Given the description of an element on the screen output the (x, y) to click on. 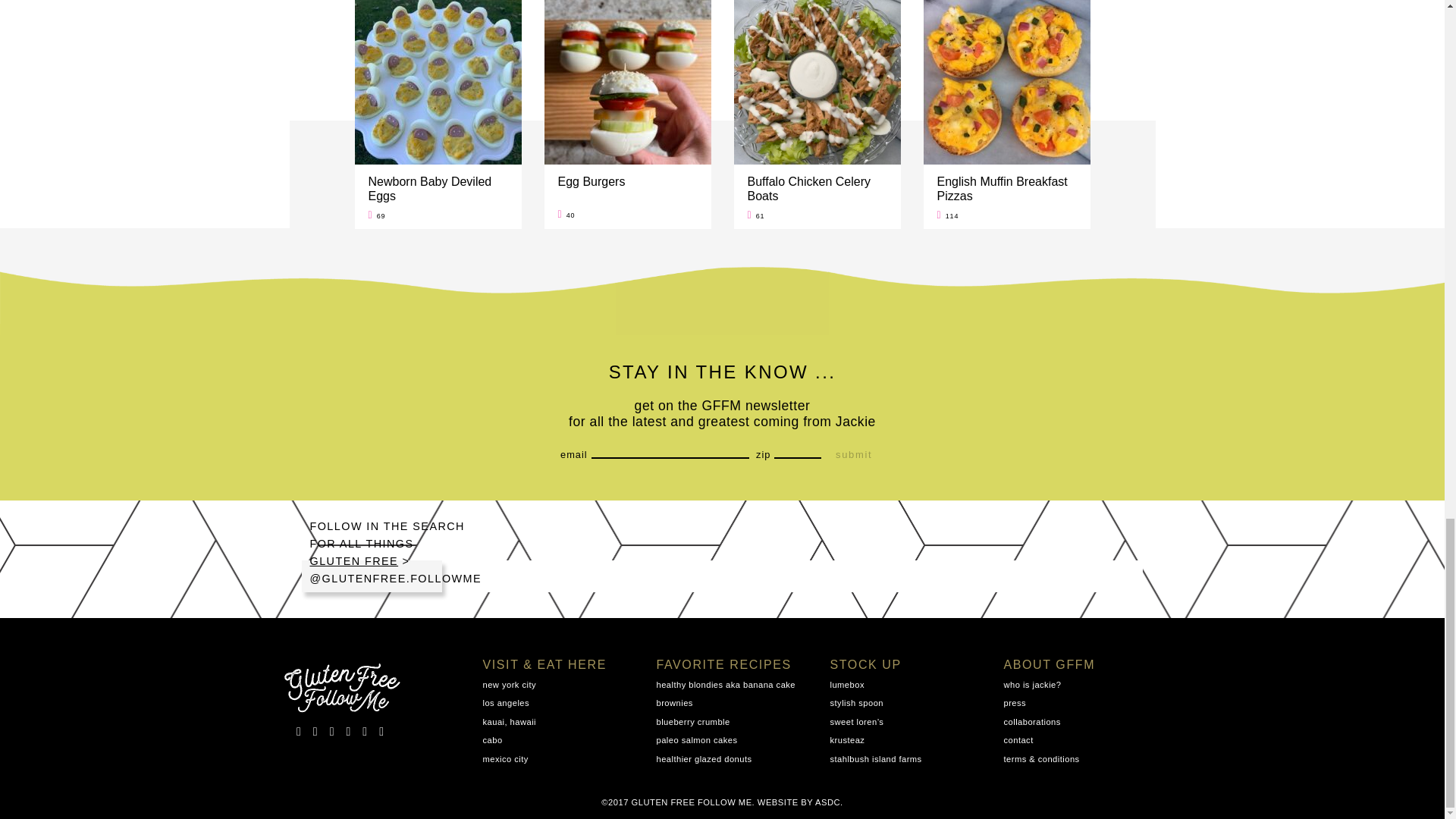
Like this (376, 215)
Like this (566, 214)
Like this (756, 215)
